Given the description of an element on the screen output the (x, y) to click on. 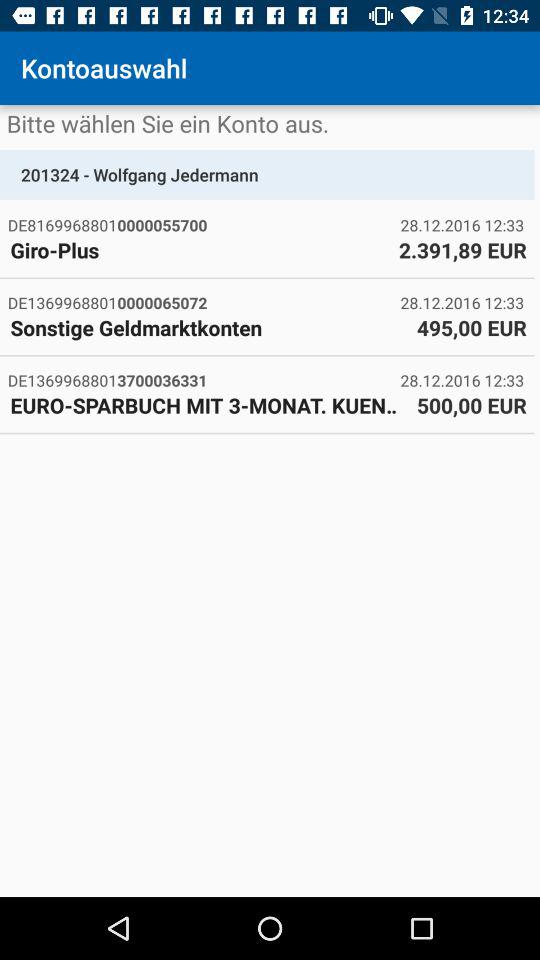
turn off item below 201324 - wolfgang jedermann (203, 224)
